Given the description of an element on the screen output the (x, y) to click on. 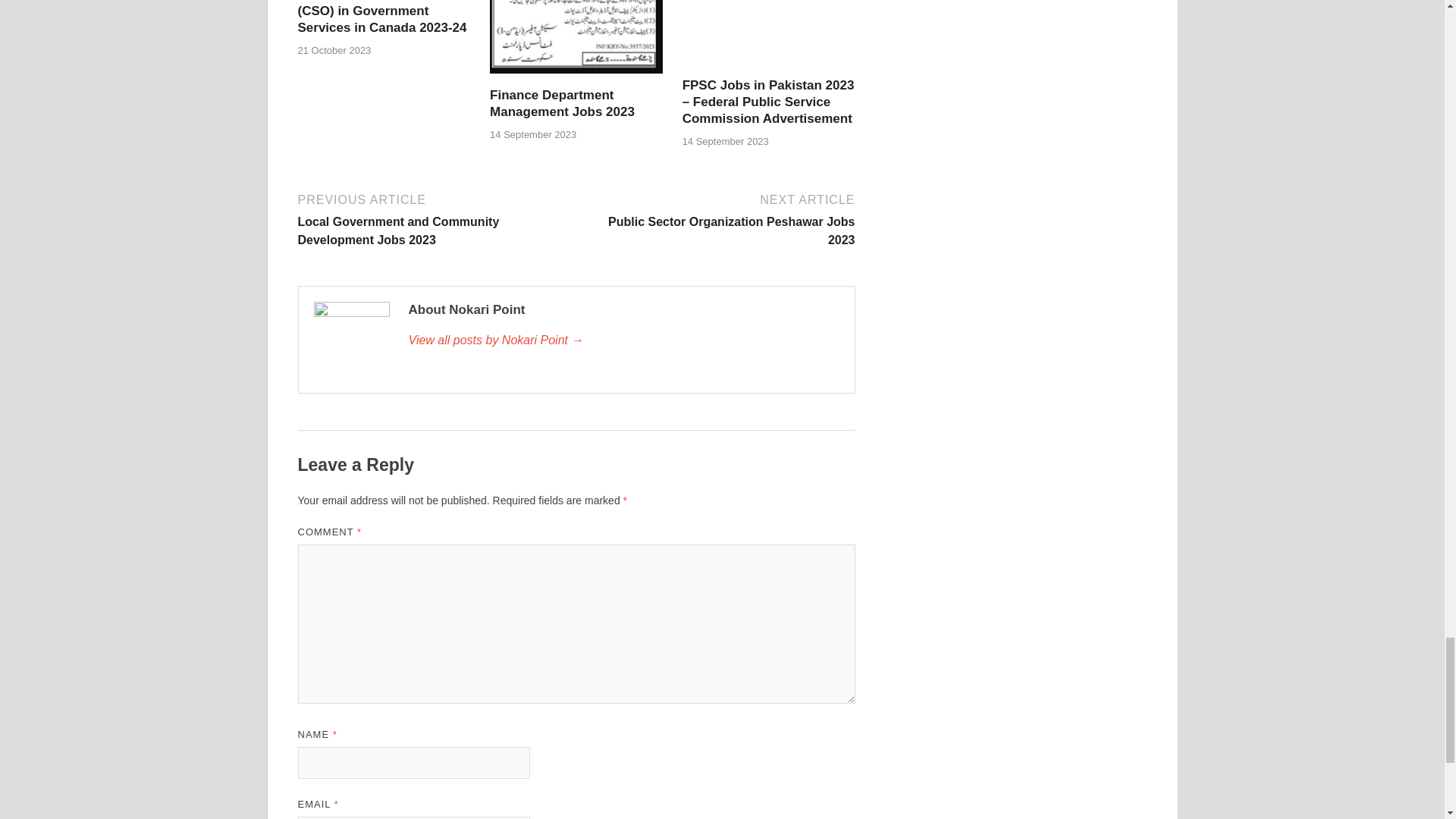
Nokari Point (622, 340)
Finance Department Management Jobs 2023 (561, 102)
Finance Department Management Jobs 2023 (575, 77)
